Given the description of an element on the screen output the (x, y) to click on. 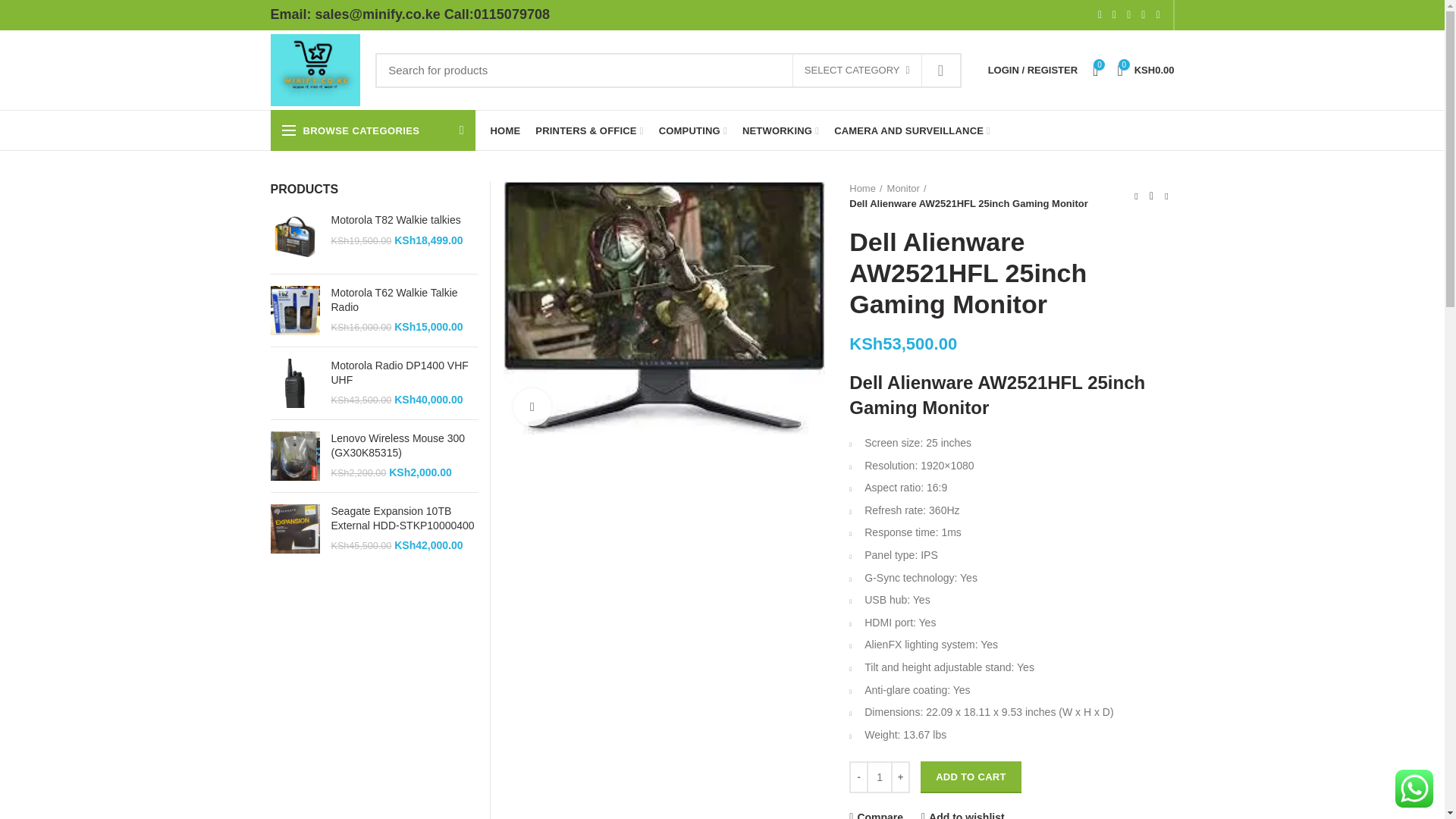
SELECT CATEGORY (856, 70)
Shopping cart (1144, 69)
Motorola T82 Walkie talkies (293, 237)
Dell Alienware AW2521HFL 25inch Gaming Monitor (664, 307)
My account (1031, 69)
Motorola T82 Walkie talkies (404, 219)
SELECT CATEGORY (857, 70)
